Given the description of an element on the screen output the (x, y) to click on. 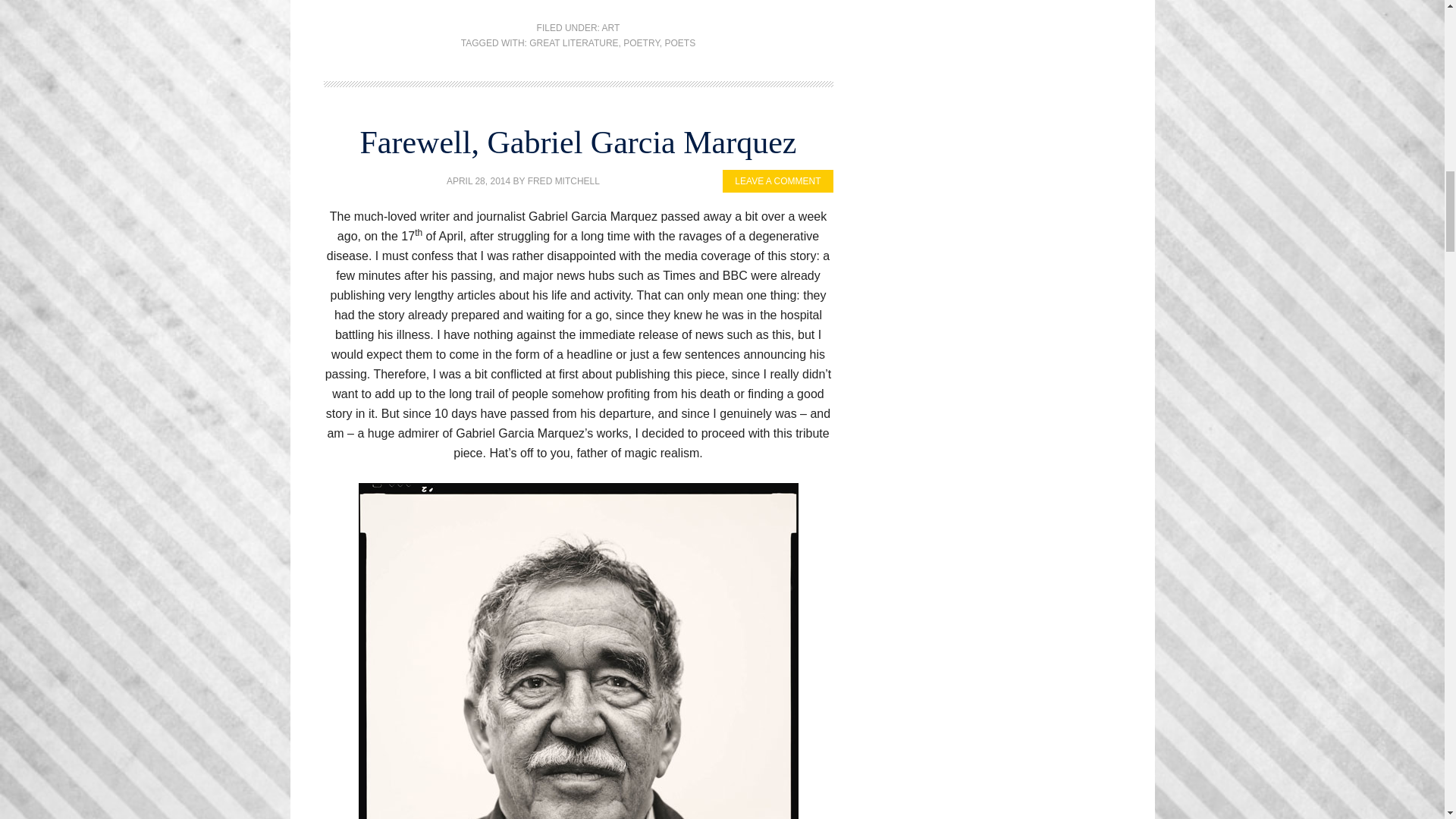
Farewell, Gabriel Garcia Marquez (577, 142)
POETRY (641, 42)
FRED MITCHELL (563, 181)
GREAT LITERATURE (573, 42)
POETS (680, 42)
ART (611, 27)
